Given the description of an element on the screen output the (x, y) to click on. 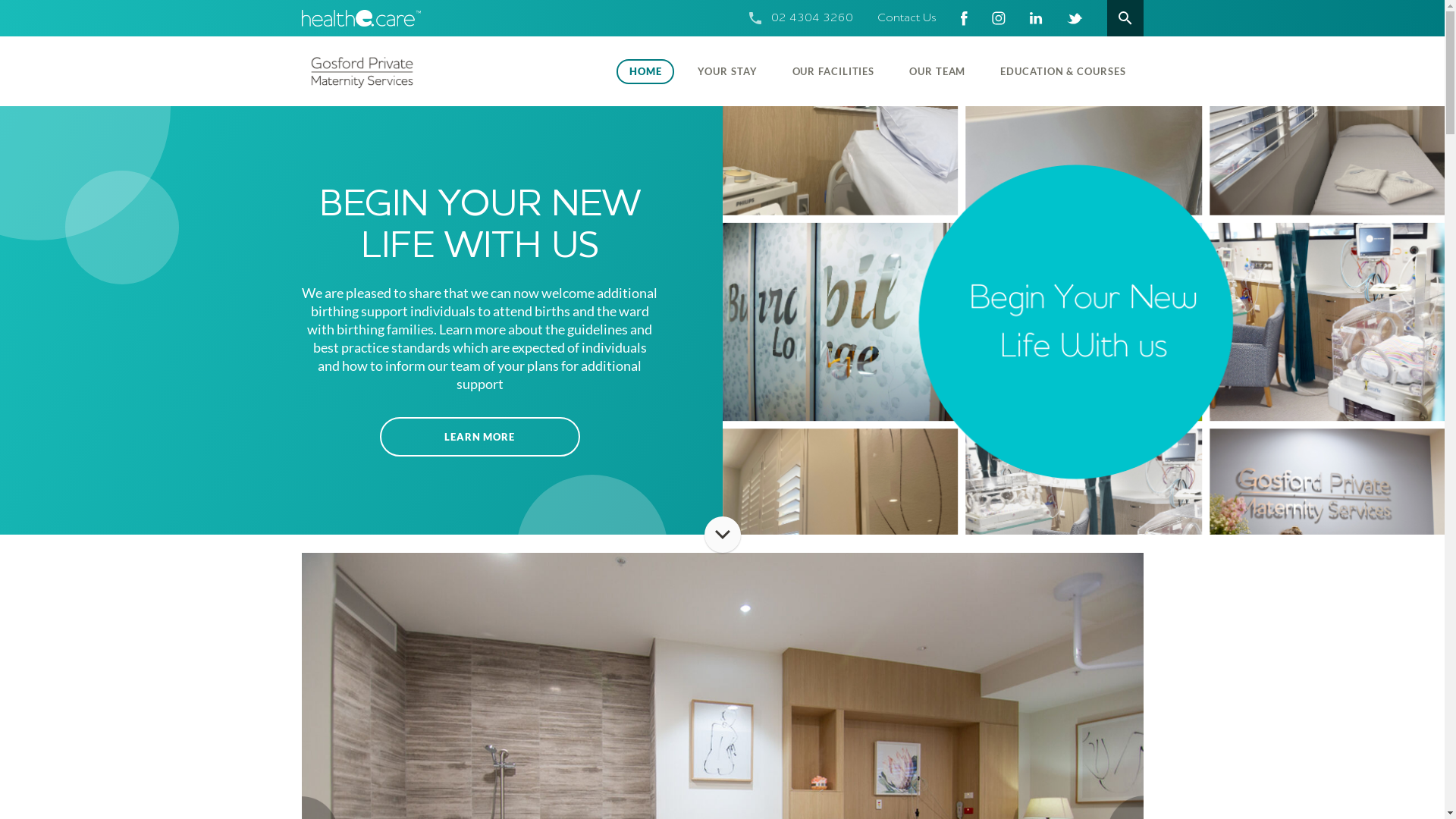
HOME
(CURRENT) Element type: text (645, 71)
EDUCATION & COURSES Element type: text (1062, 70)
SCROLL TO MAIN CONTENT Element type: text (721, 534)
OUR FACILITIES Element type: text (833, 70)
Facebook page - gosfordprivate Element type: text (963, 17)
Gosford Maternity Element type: text (399, 71)
Contact Us Element type: text (905, 18)
LEARN MORE Element type: text (479, 436)
Twitter - HealtheCareAus Element type: text (1074, 17)
LinkedIn - 292626 Element type: text (1035, 18)
Skip to main content Element type: text (0, 0)
02 4304 3260 Element type: text (811, 18)
YOUR STAY Element type: text (727, 70)
instagram page - gosfordprivate Element type: text (998, 18)
OUR TEAM Element type: text (936, 70)
